Given the description of an element on the screen output the (x, y) to click on. 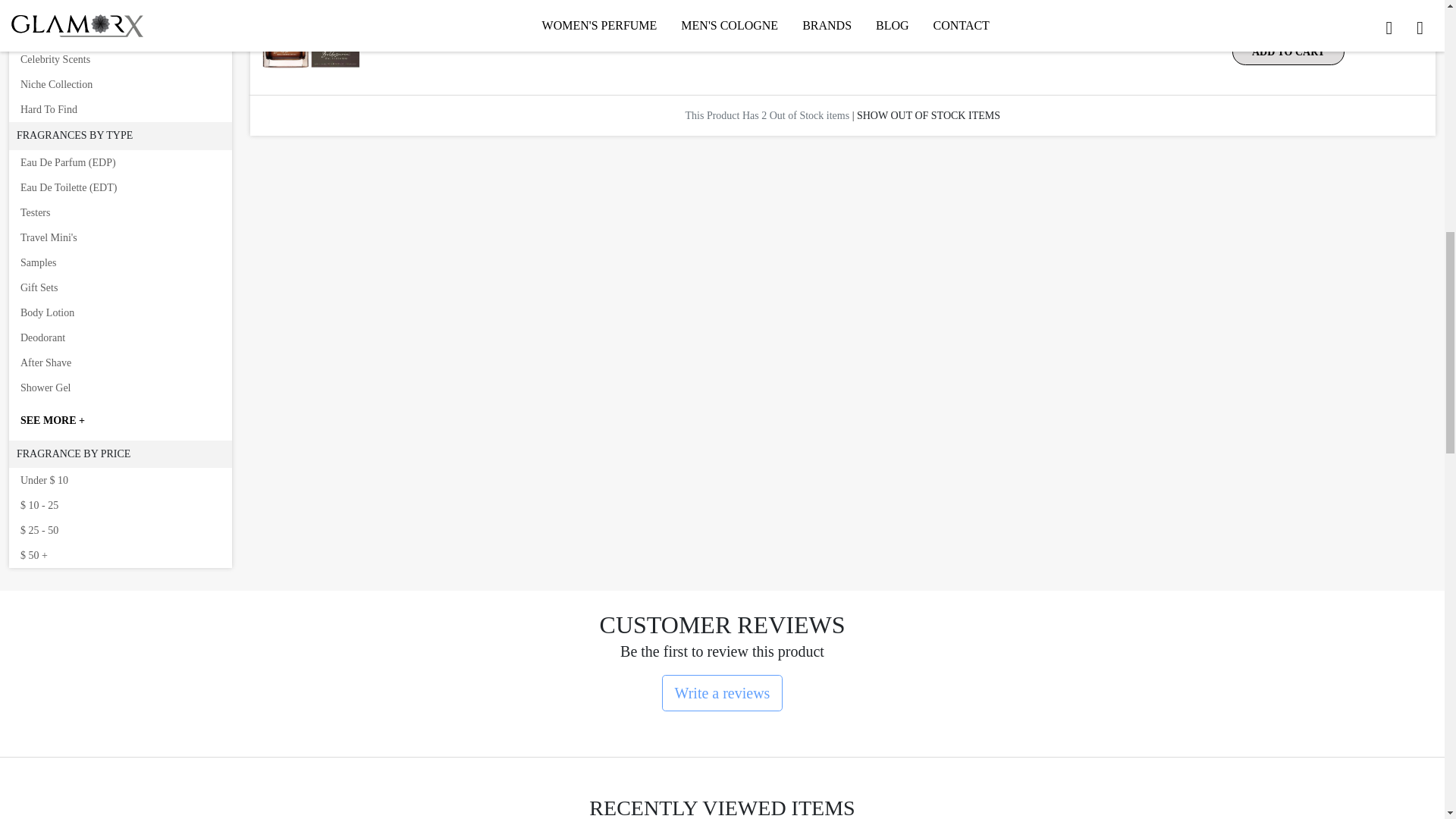
Samples (119, 262)
Gift Sets (119, 287)
Celebrity Scents (119, 59)
After Shave (119, 362)
New Arrivals (119, 34)
Body Lotion (119, 312)
Travel Mini's (119, 237)
Shower Gel (119, 387)
Testers (119, 212)
Best Sellers (119, 11)
Niche Collection (119, 84)
Hard To Find (119, 109)
Deodorant (119, 337)
